Given the description of an element on the screen output the (x, y) to click on. 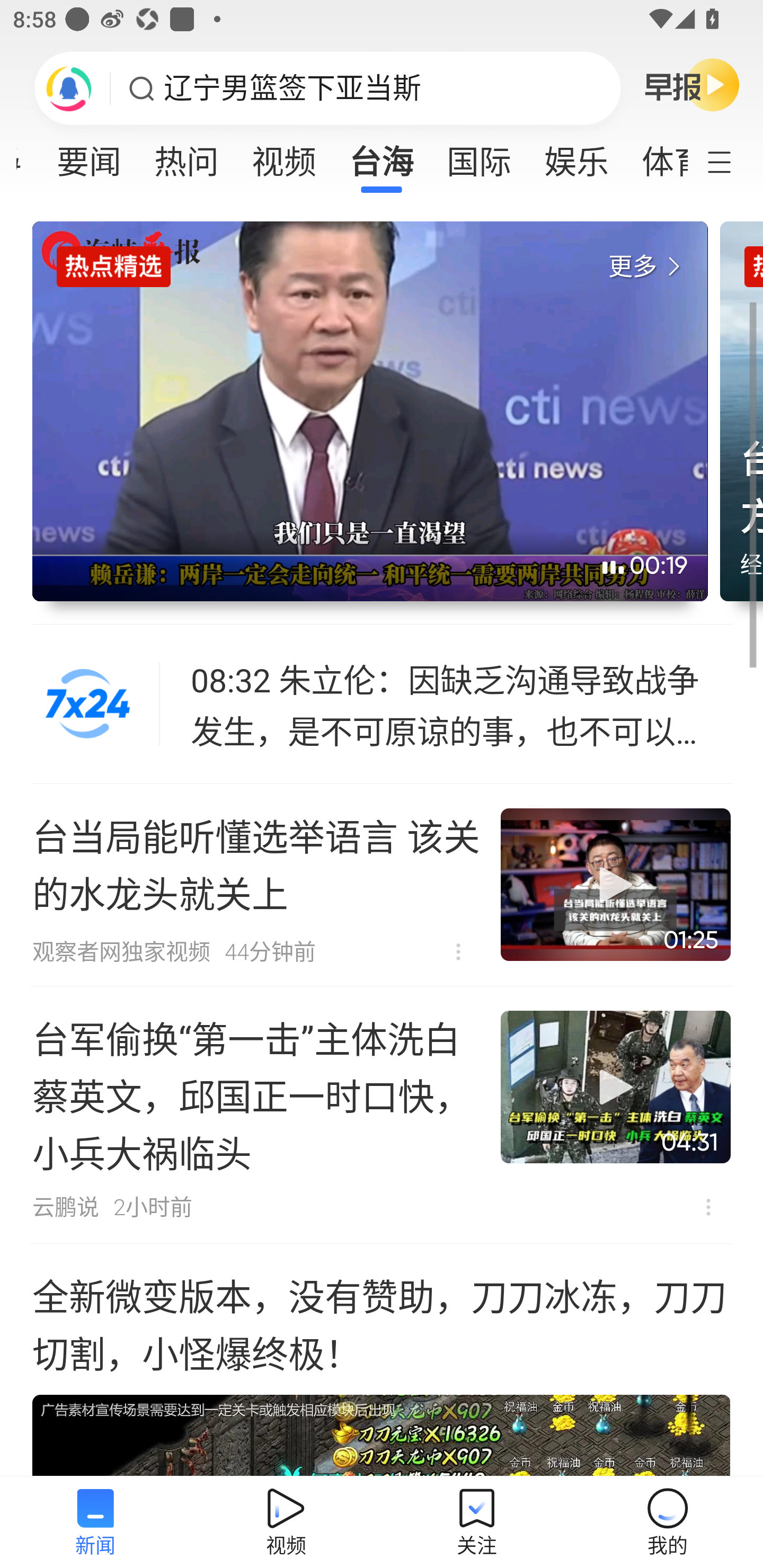
早晚报 (691, 84)
刷新 (68, 88)
辽宁男篮签下亚当斯 (292, 88)
要闻 (89, 155)
热问 (186, 155)
视频 (283, 155)
台海 (381, 155)
国际 (478, 155)
娱乐 (575, 155)
 定制频道 (731, 160)
更多  (648, 267)
台当局能听懂选举语言 该关的水龙头就关上 观察者网独家视频 44分钟前  不感兴趣 01:25 (381, 885)
 不感兴趣 (458, 951)
 不感兴趣 (707, 1207)
全新微变版本，没有赞助，刀刀冰冻，刀刀切割，小怪爆终极！ (381, 1360)
